Given the description of an element on the screen output the (x, y) to click on. 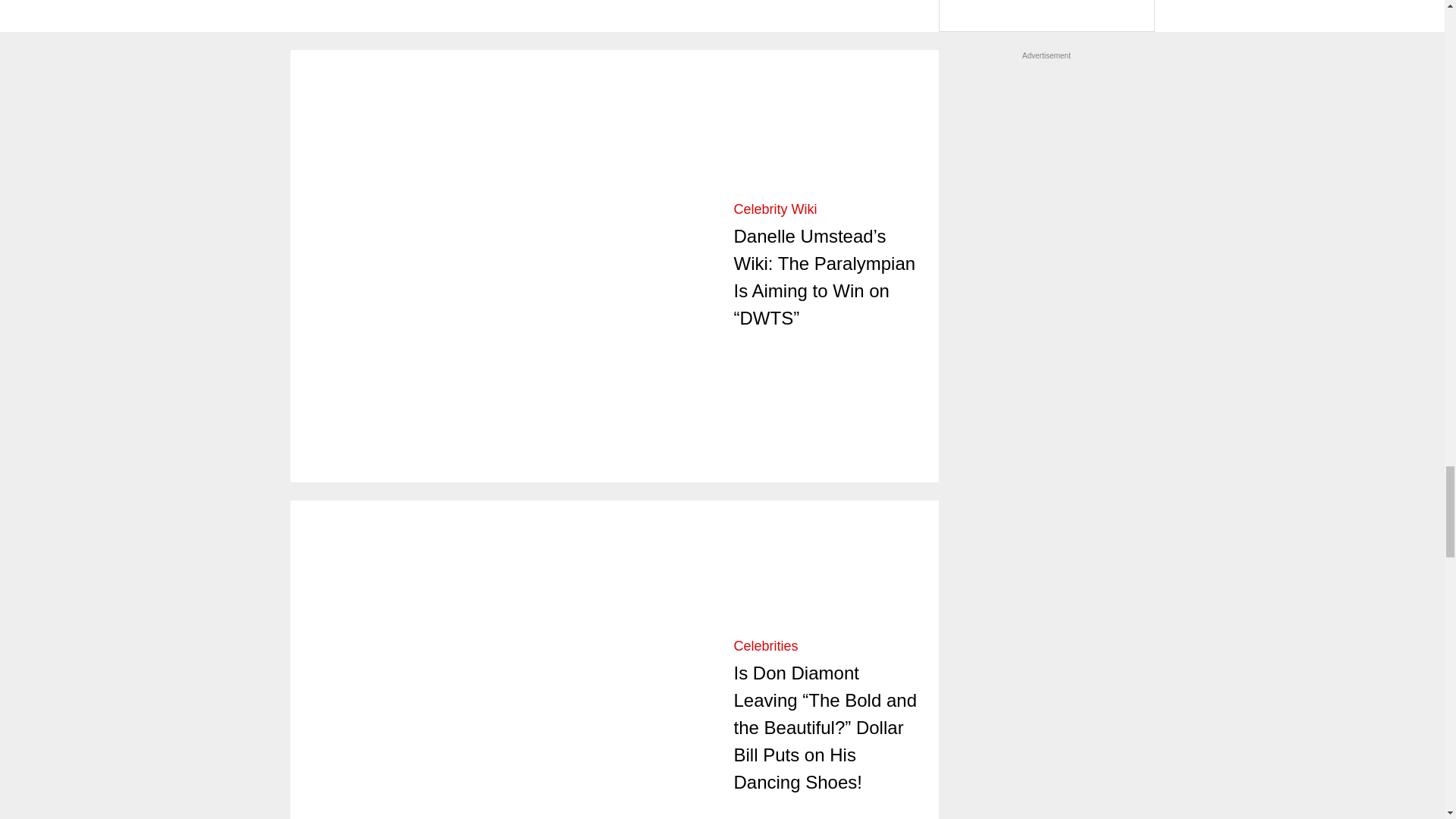
Category Name (765, 645)
Category Name (774, 209)
